Given the description of an element on the screen output the (x, y) to click on. 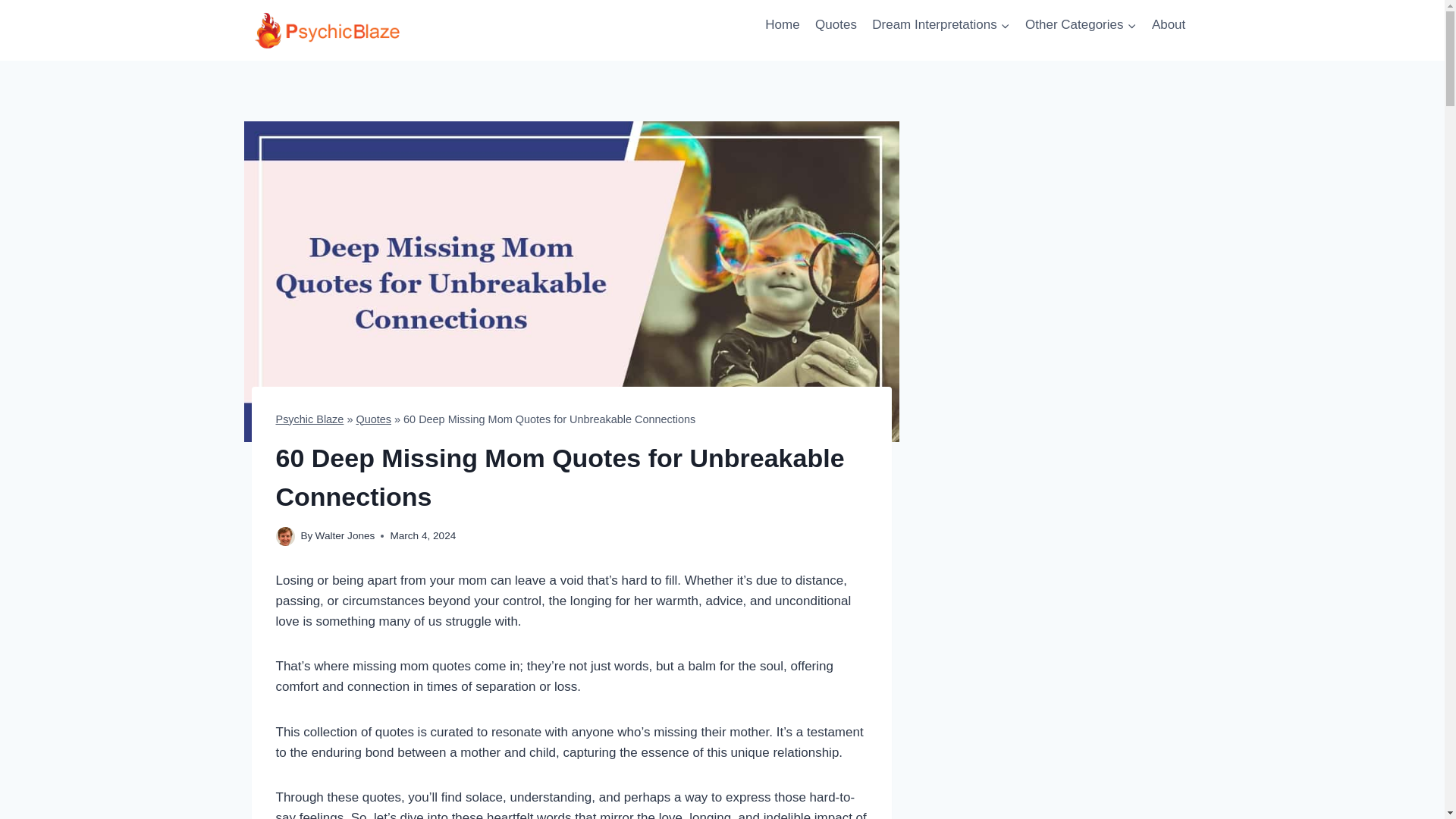
Walter Jones (345, 535)
Quotes (836, 24)
About (1168, 24)
Psychic Blaze (309, 418)
Home (782, 24)
Quotes (373, 418)
Other Categories (1080, 24)
Dream Interpretations (940, 24)
